Given the description of an element on the screen output the (x, y) to click on. 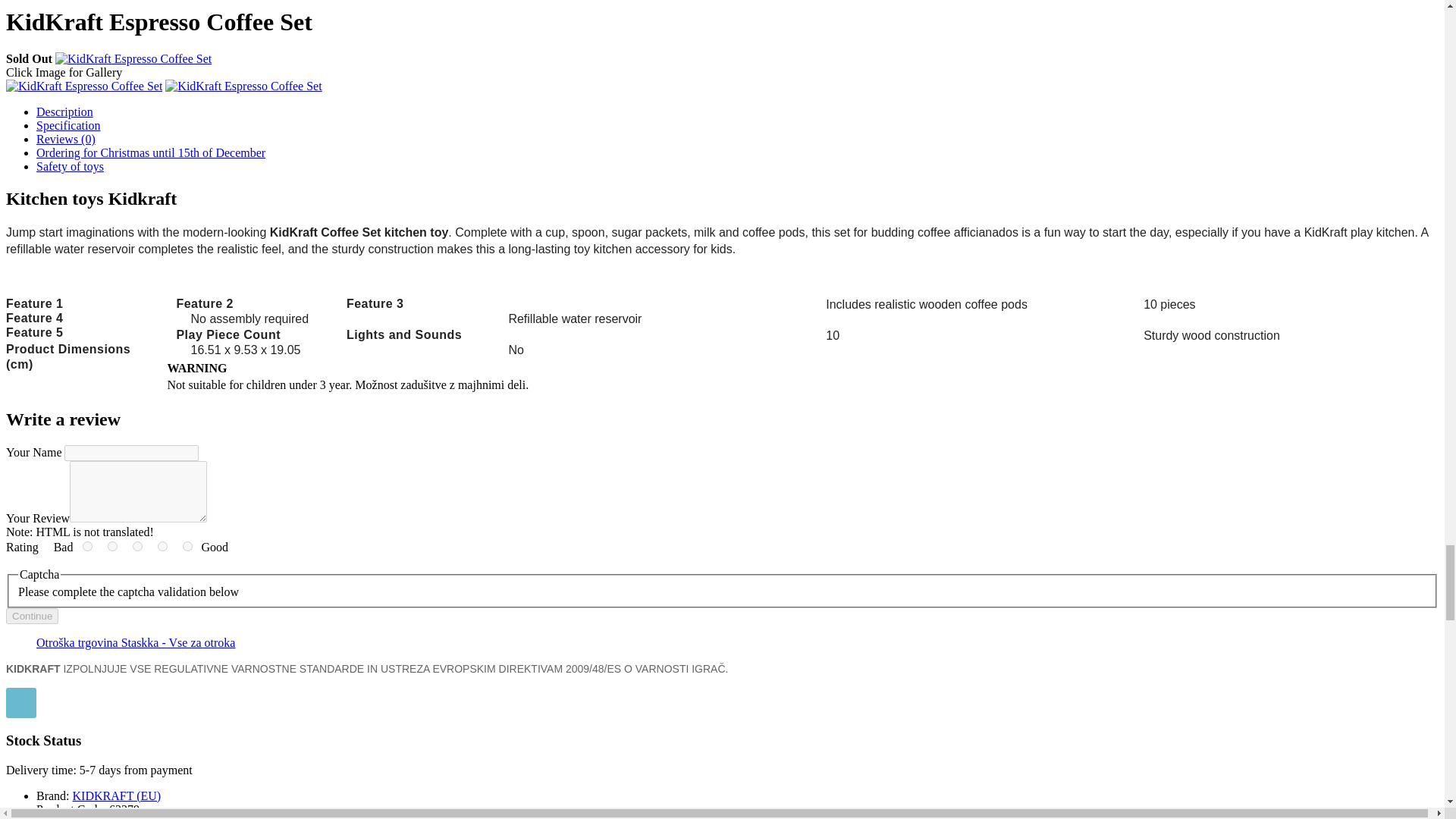
KidKraft Espresso Coffee Set (243, 85)
2 (112, 546)
KidKraft Espresso Coffee Set (133, 59)
1 (87, 546)
3 (137, 546)
5 (187, 546)
KidKraft Espresso Coffee Set (133, 58)
4 (162, 546)
KidKraft Espresso Coffee Set (83, 86)
KidKraft Espresso Coffee Set (243, 86)
KidKraft Espresso Coffee Set (83, 85)
